Given the description of an element on the screen output the (x, y) to click on. 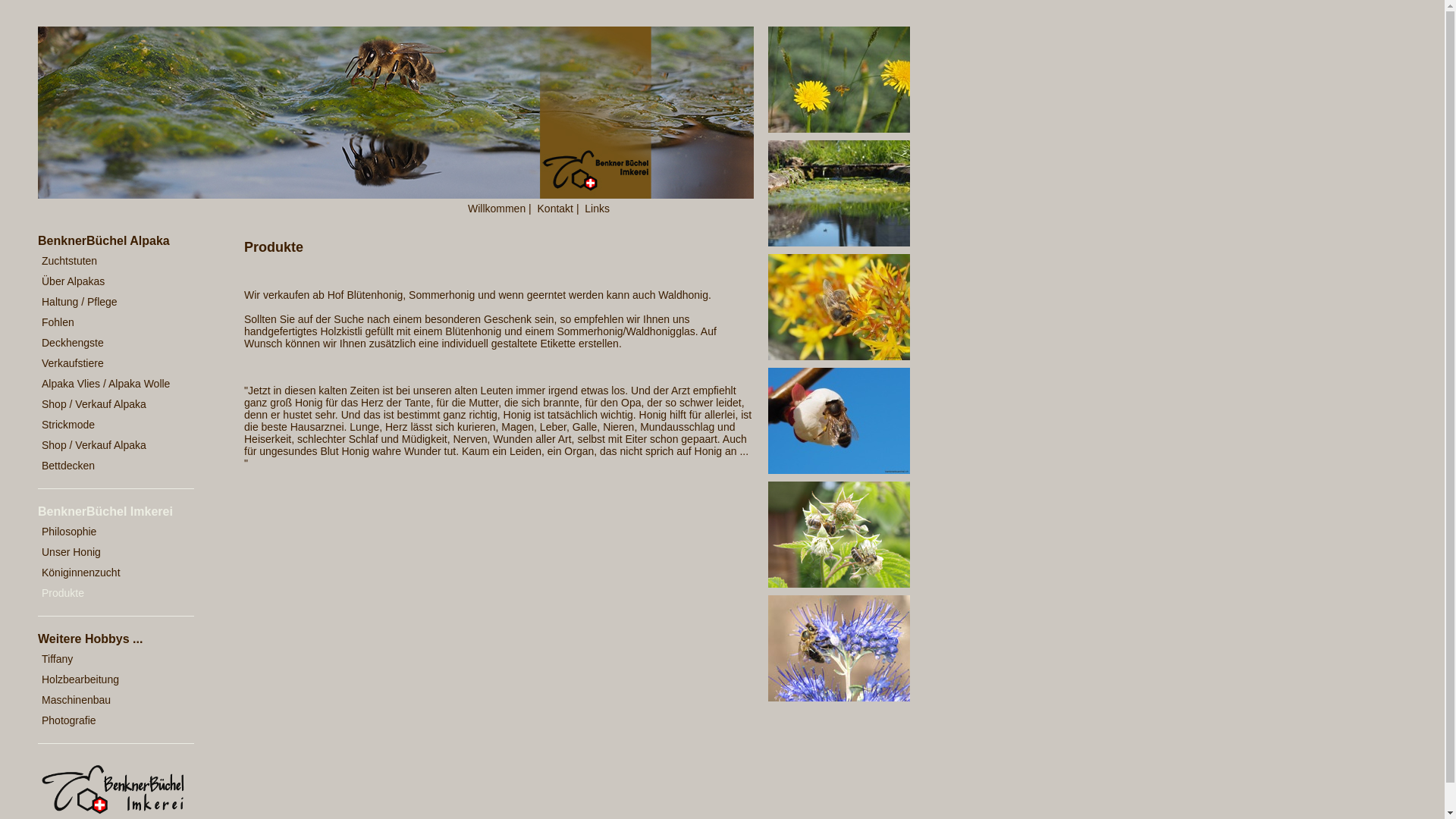
Biene auf Bartblume Element type: hover (839, 697)
Unser Honig Element type: text (109, 552)
Haltung / Pflege Element type: text (109, 301)
Photografie Element type: text (109, 720)
Fohlen Element type: text (109, 322)
Tiffany Element type: text (109, 659)
Links Element type: text (596, 208)
Shop / Verkauf Alpaka Strickmode Element type: text (109, 414)
Willkommen Element type: text (496, 208)
Philosophie Element type: text (109, 531)
Shop / Verkauf Alpaka Bettdecken Element type: text (109, 455)
Deckhengste Element type: text (109, 342)
Weitere Hobbys ... Element type: text (117, 638)
Alpaka Vlies / Alpaka Wolle Element type: text (109, 383)
Kontakt Element type: text (555, 208)
Zuchtstuten Element type: text (109, 261)
Maschinenbau Element type: text (109, 700)
Verkaufstiere Element type: text (109, 363)
Holzbearbeitung Element type: text (109, 679)
